Given the description of an element on the screen output the (x, y) to click on. 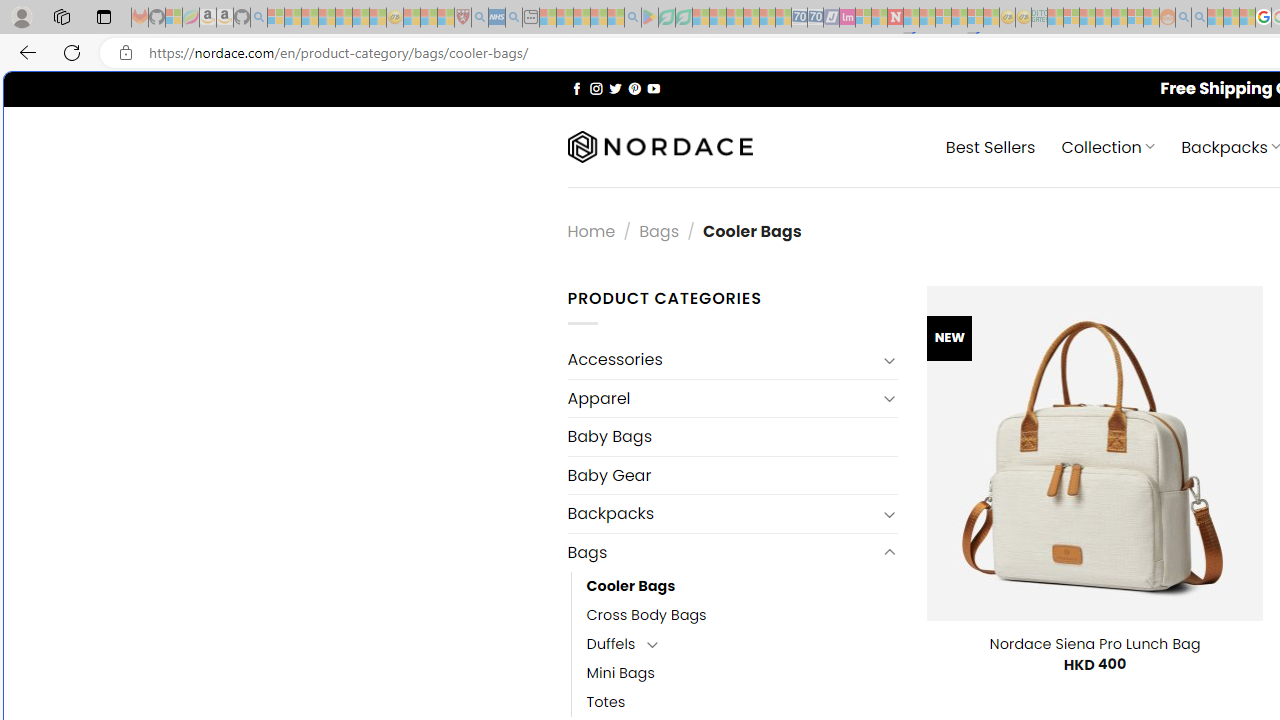
Microsoft Start - Sleeping (1215, 17)
 Best Sellers (989, 146)
Totes (605, 701)
Cooler Bags (742, 585)
MSNBC - MSN - Sleeping (1055, 17)
